Given the description of an element on the screen output the (x, y) to click on. 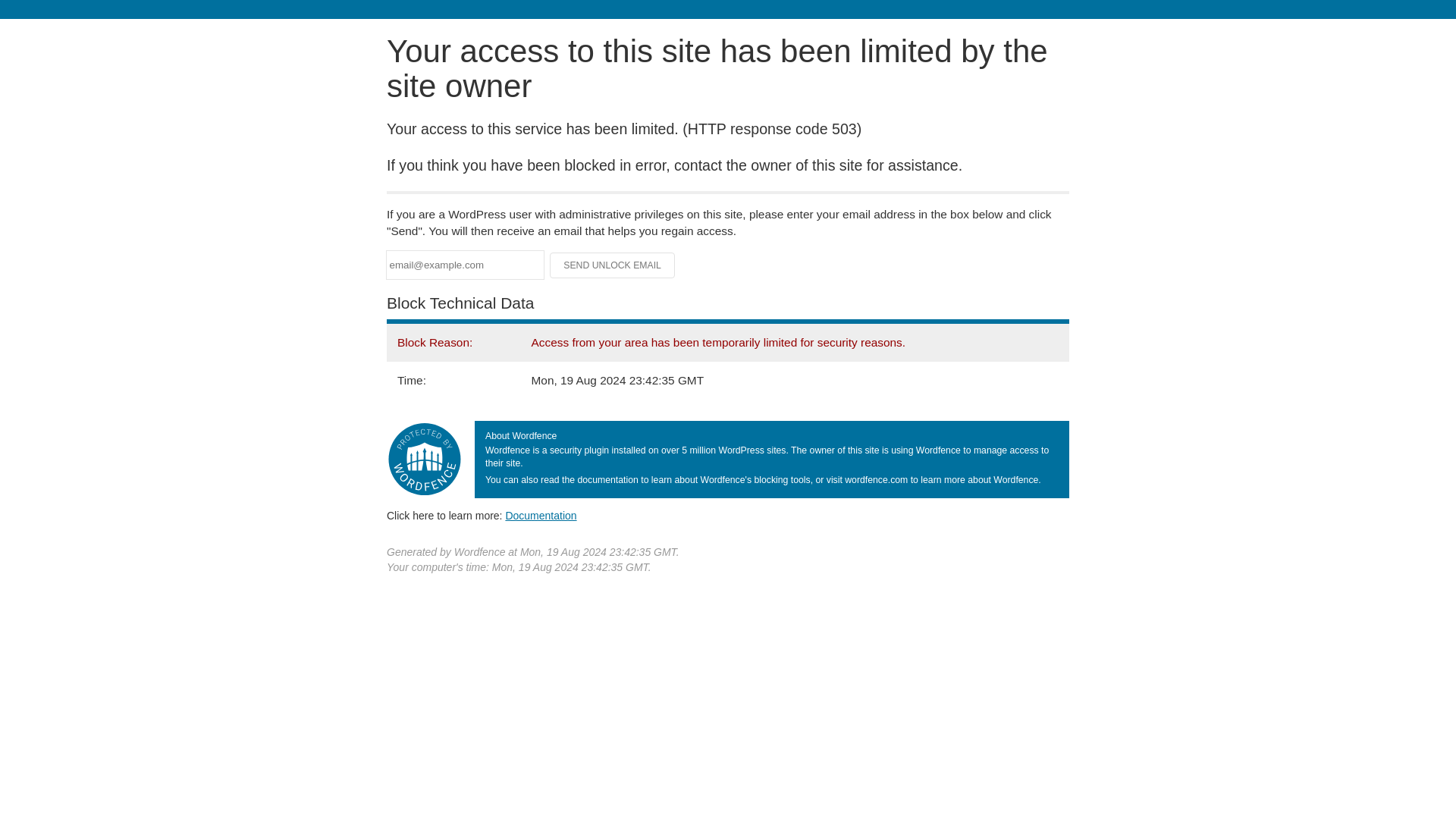
Send Unlock Email (612, 265)
Send Unlock Email (612, 265)
Documentation (540, 515)
